Given the description of an element on the screen output the (x, y) to click on. 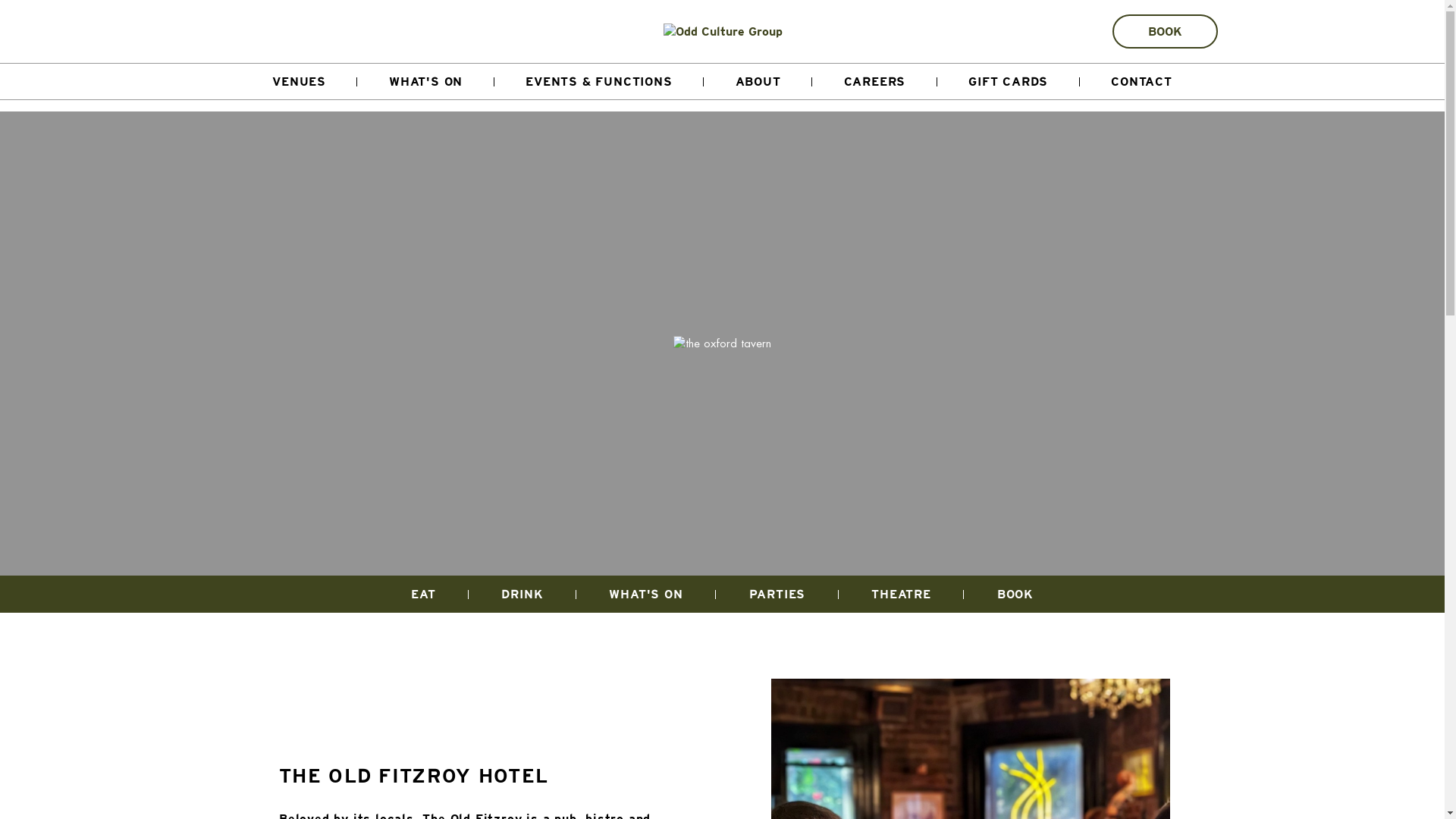
CONTACT Element type: text (1141, 81)
BOOK Element type: text (1164, 31)
PARTIES Element type: text (776, 593)
GIFT CARDS Element type: text (1008, 81)
EVENTS & FUNCTIONS Element type: text (598, 81)
ABOUT Element type: text (757, 81)
VENUES Element type: text (299, 81)
WHAT'S ON Element type: text (645, 593)
WHAT'S ON Element type: text (425, 81)
EAT Element type: text (422, 593)
BOOK Element type: text (1014, 593)
CAREERS Element type: text (874, 81)
DRINK Element type: text (522, 593)
THEATRE Element type: text (901, 593)
